Given the description of an element on the screen output the (x, y) to click on. 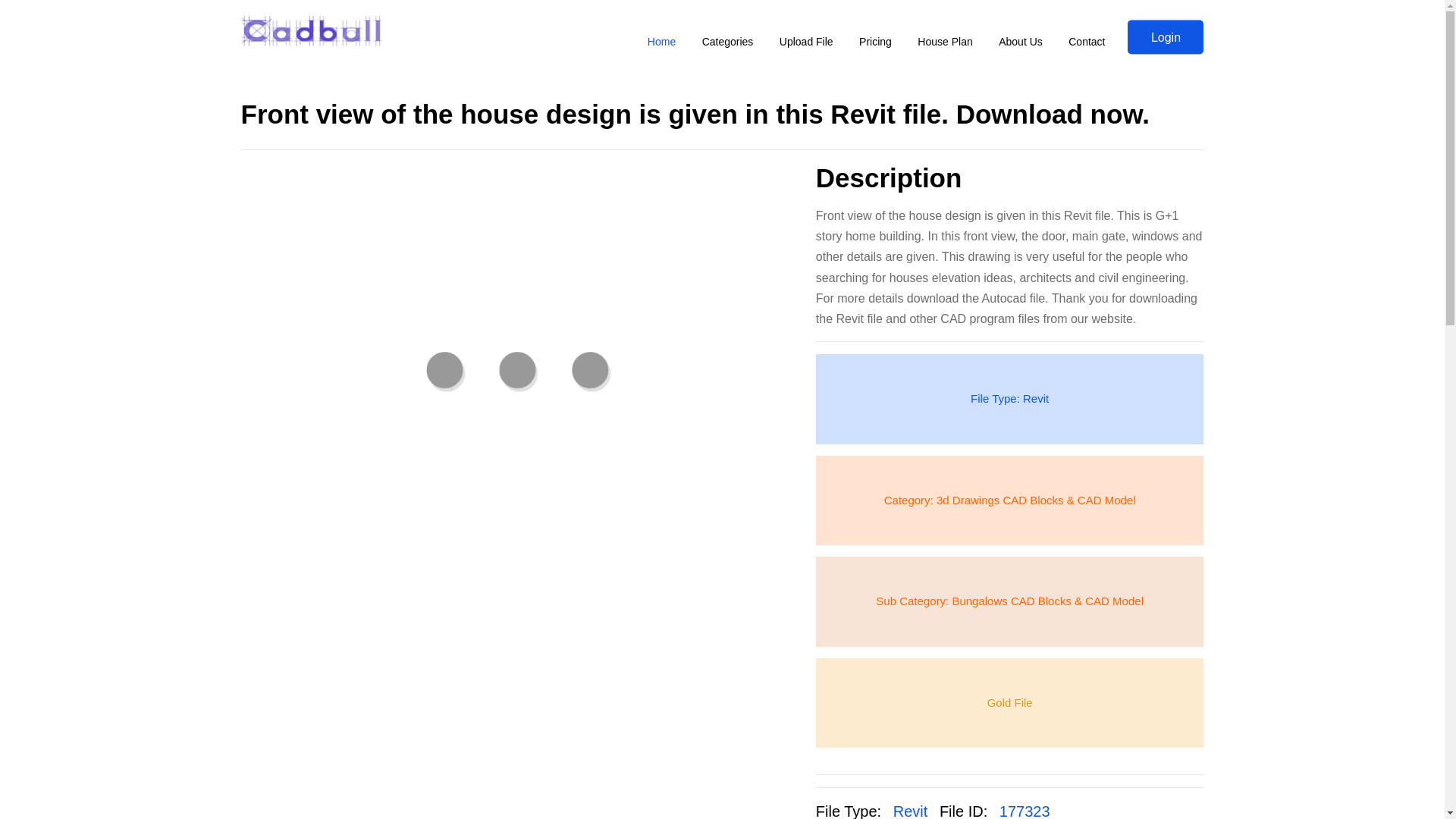
Upload File (806, 41)
File Type: Revit (1009, 398)
Home (661, 41)
Pricing (874, 41)
Revit (910, 811)
177323 (1023, 811)
House Plan (944, 41)
Contact (1086, 41)
About Us (1020, 41)
Login (1165, 36)
